Given the description of an element on the screen output the (x, y) to click on. 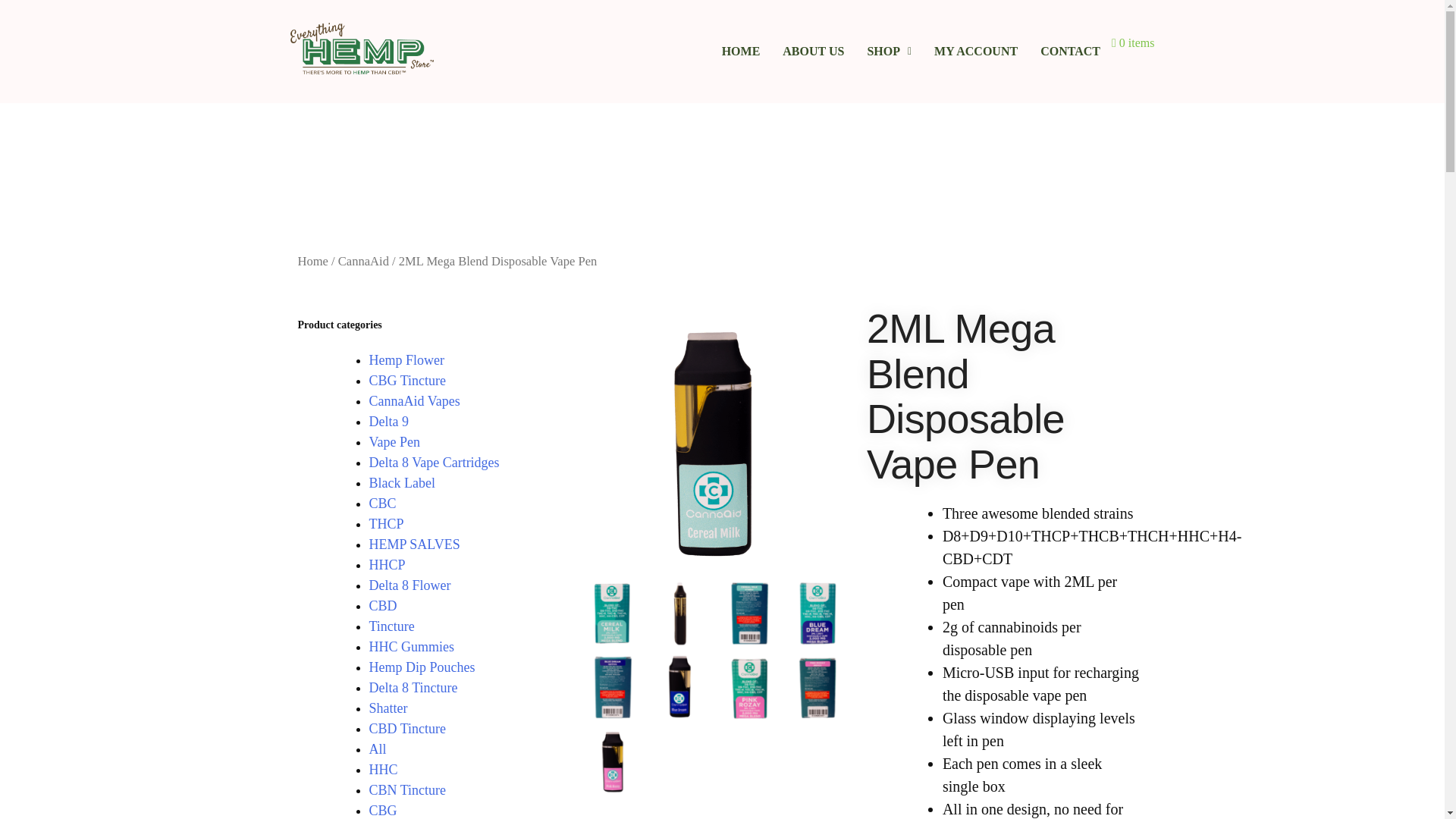
CONTACT (1070, 51)
Delta 8 Vape Cartridges (433, 462)
Hemp Flower (406, 359)
HOME (740, 51)
Delta 9 (387, 421)
0 items (1133, 42)
SHOP (889, 51)
CBD (382, 605)
CannaAid Vapes (414, 400)
ABOUT US (813, 51)
Home (312, 260)
THCP (385, 523)
CannaAid (362, 260)
Delta 8 Flower (408, 585)
CBG Tincture (406, 380)
